Given the description of an element on the screen output the (x, y) to click on. 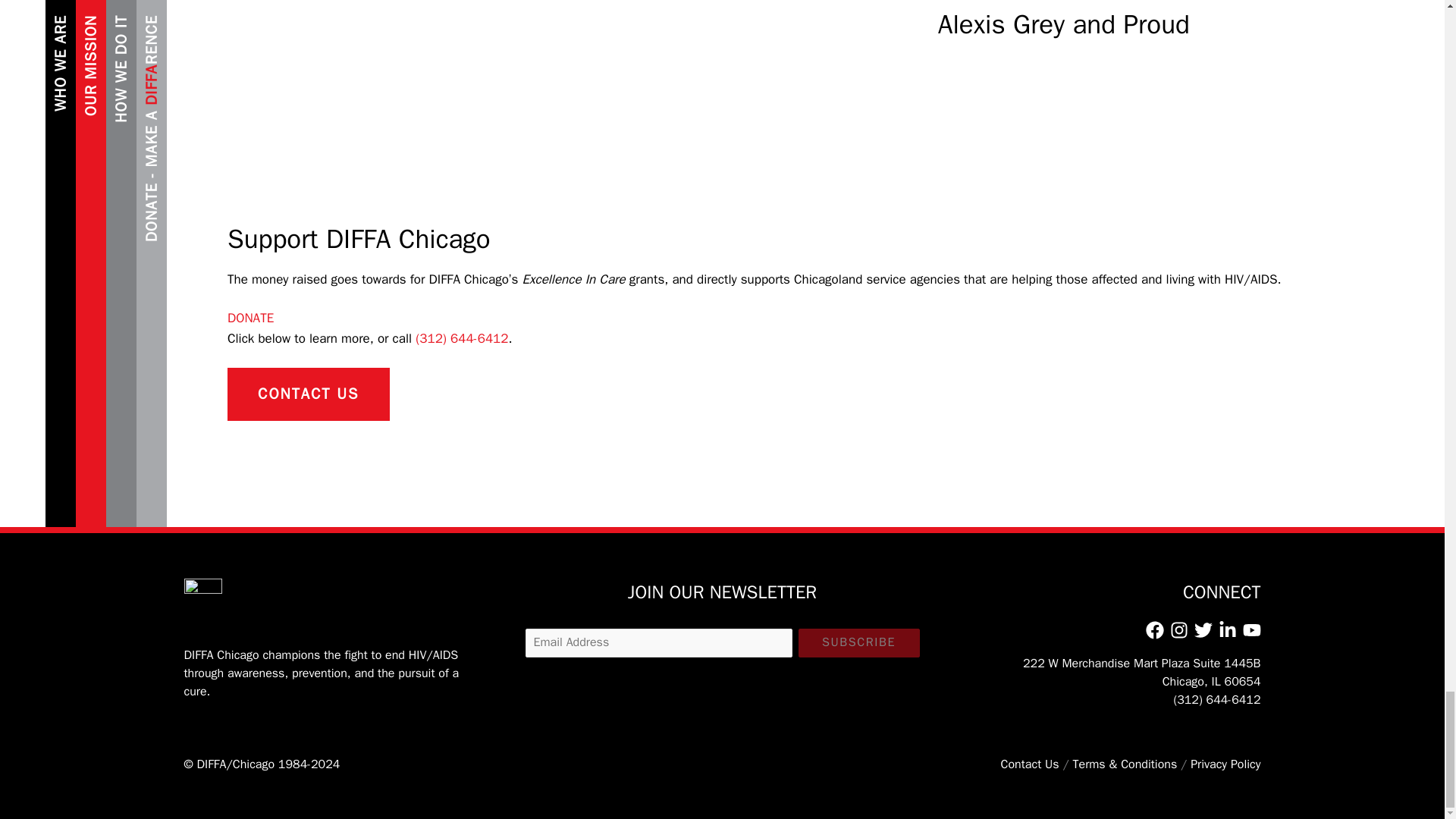
SUBSCRIBE (857, 642)
CONTACT US (308, 393)
DONATE (250, 317)
